Given the description of an element on the screen output the (x, y) to click on. 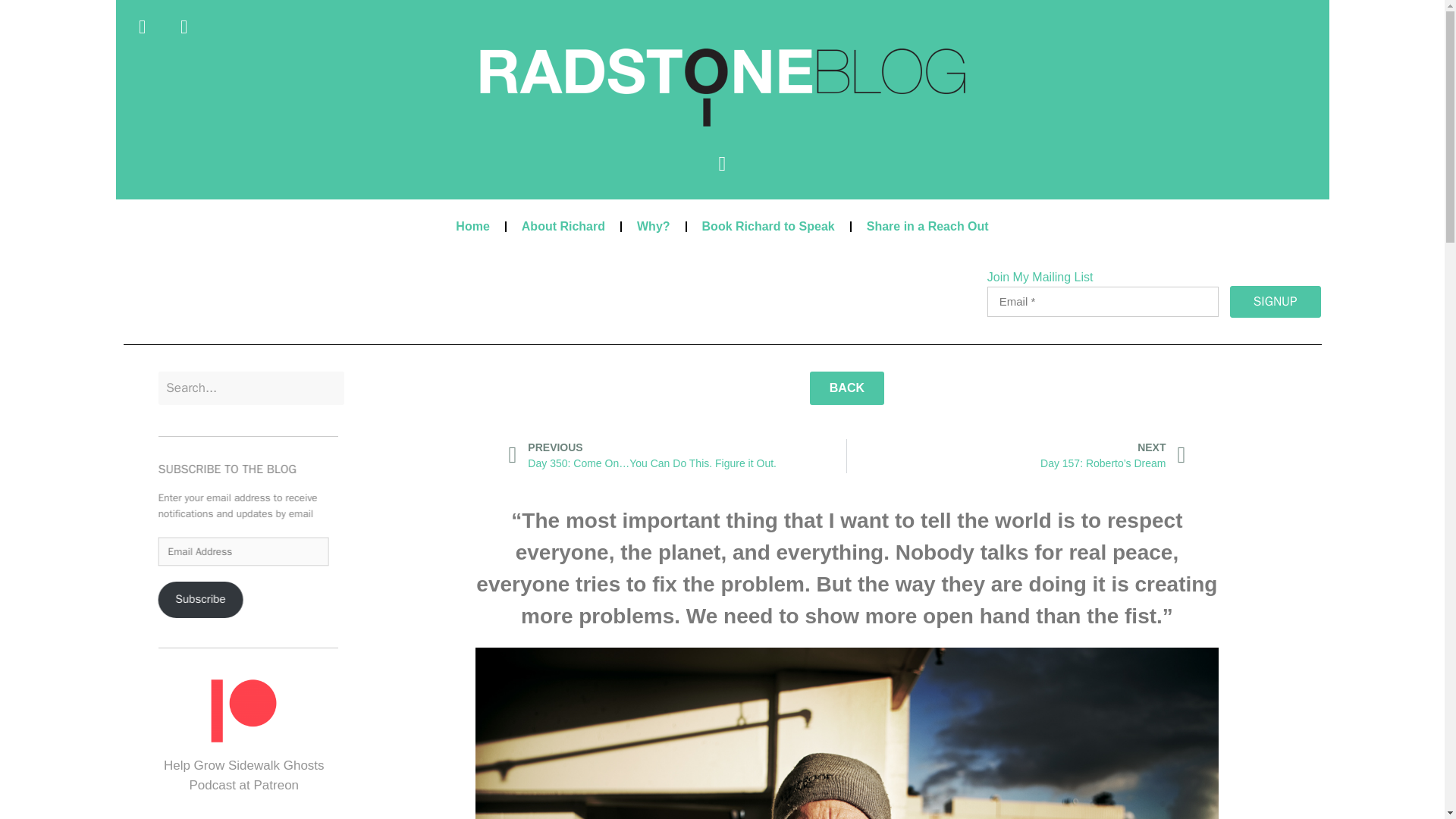
RadstoneBlog005 (721, 87)
Why? (653, 226)
Subscribe (211, 603)
Book Richard to Speak (768, 226)
About Richard (563, 226)
Home (472, 226)
Share in a Reach Out (927, 226)
BACK (846, 387)
SIGNUP (1275, 301)
Search (250, 387)
